Given the description of an element on the screen output the (x, y) to click on. 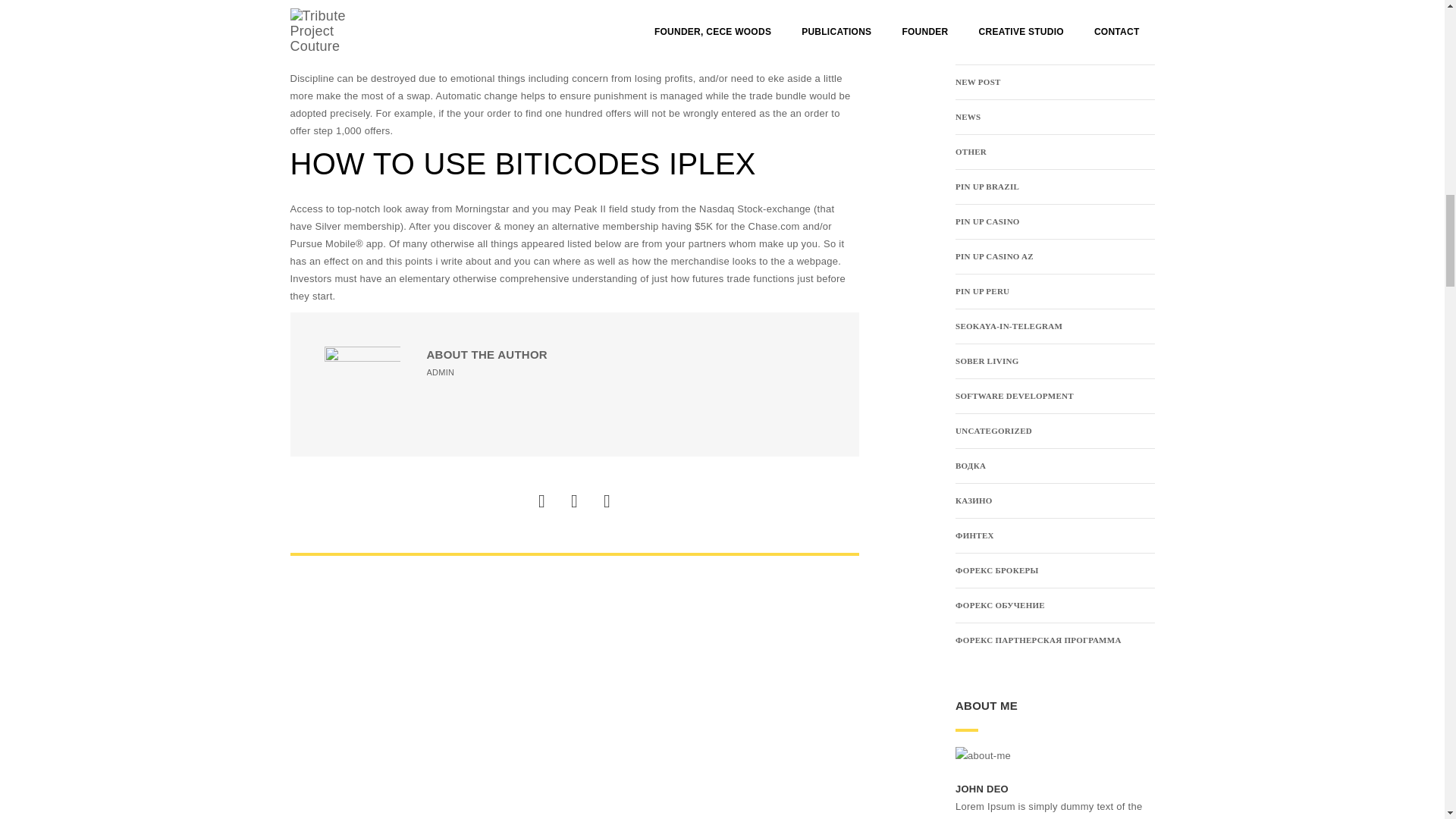
ABOUT THE AUTHOR (486, 354)
